Given the description of an element on the screen output the (x, y) to click on. 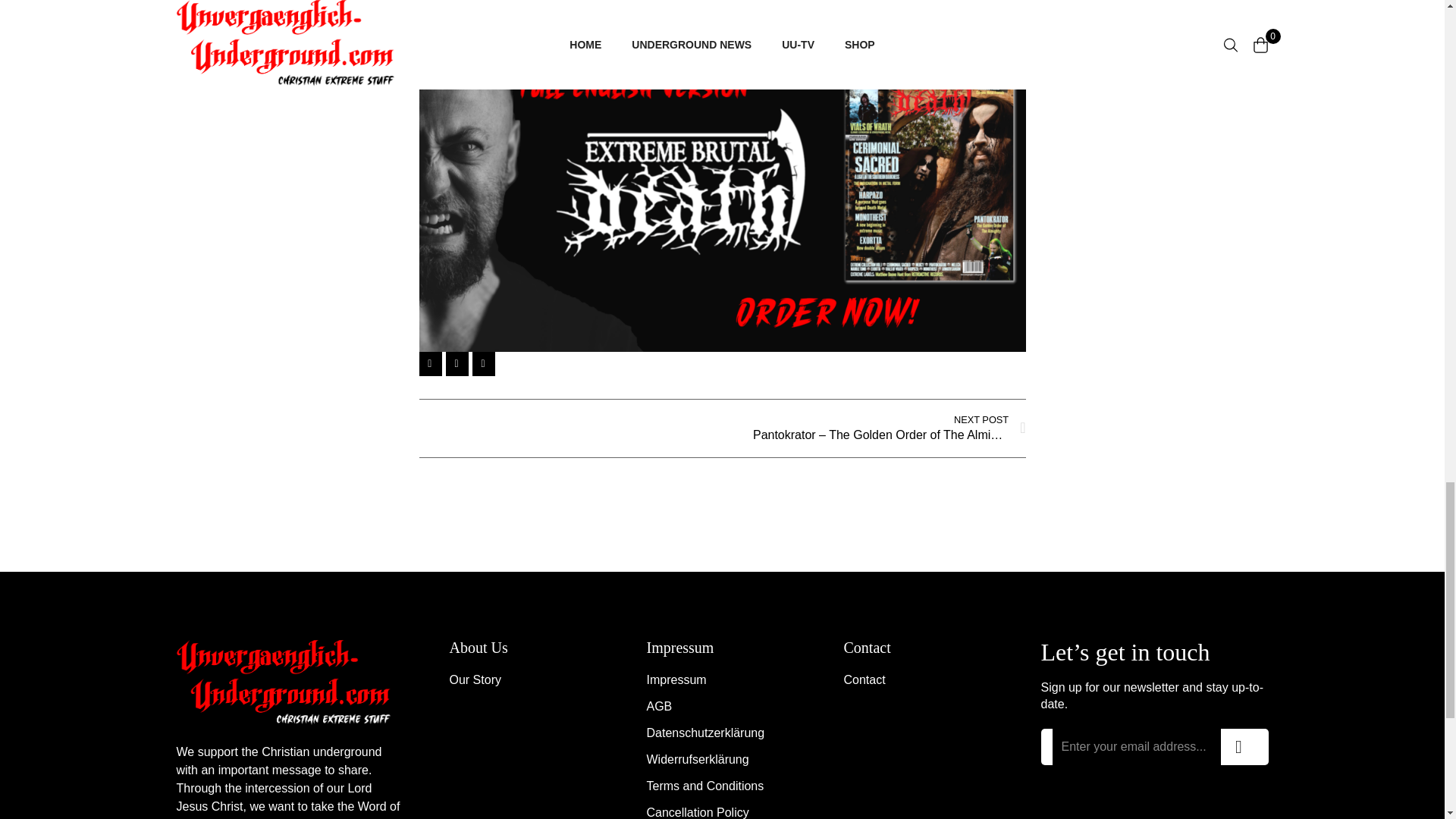
Our Story (523, 680)
Contact (918, 680)
Terms and Conditions (721, 786)
Cancellation Policy (721, 811)
Impressum (721, 680)
AGB (721, 706)
